Given the description of an element on the screen output the (x, y) to click on. 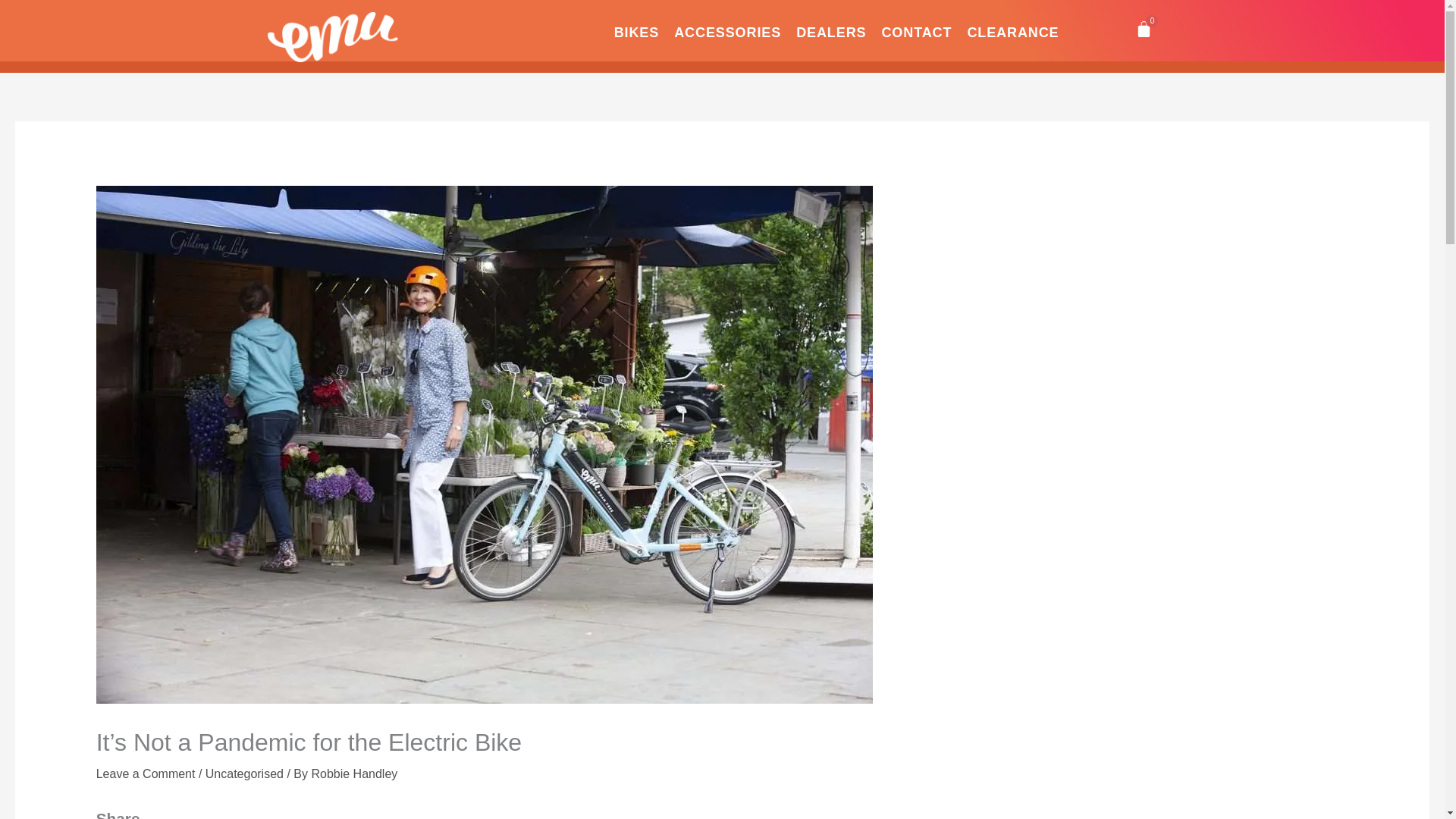
View all posts by Robbie Handley (354, 773)
Leave a Comment (145, 773)
Uncategorised (244, 773)
CLEARANCE (1012, 32)
ACCESSORIES (727, 32)
BIKES (636, 32)
Robbie Handley (354, 773)
CONTACT (916, 32)
DEALERS (831, 32)
